Given the description of an element on the screen output the (x, y) to click on. 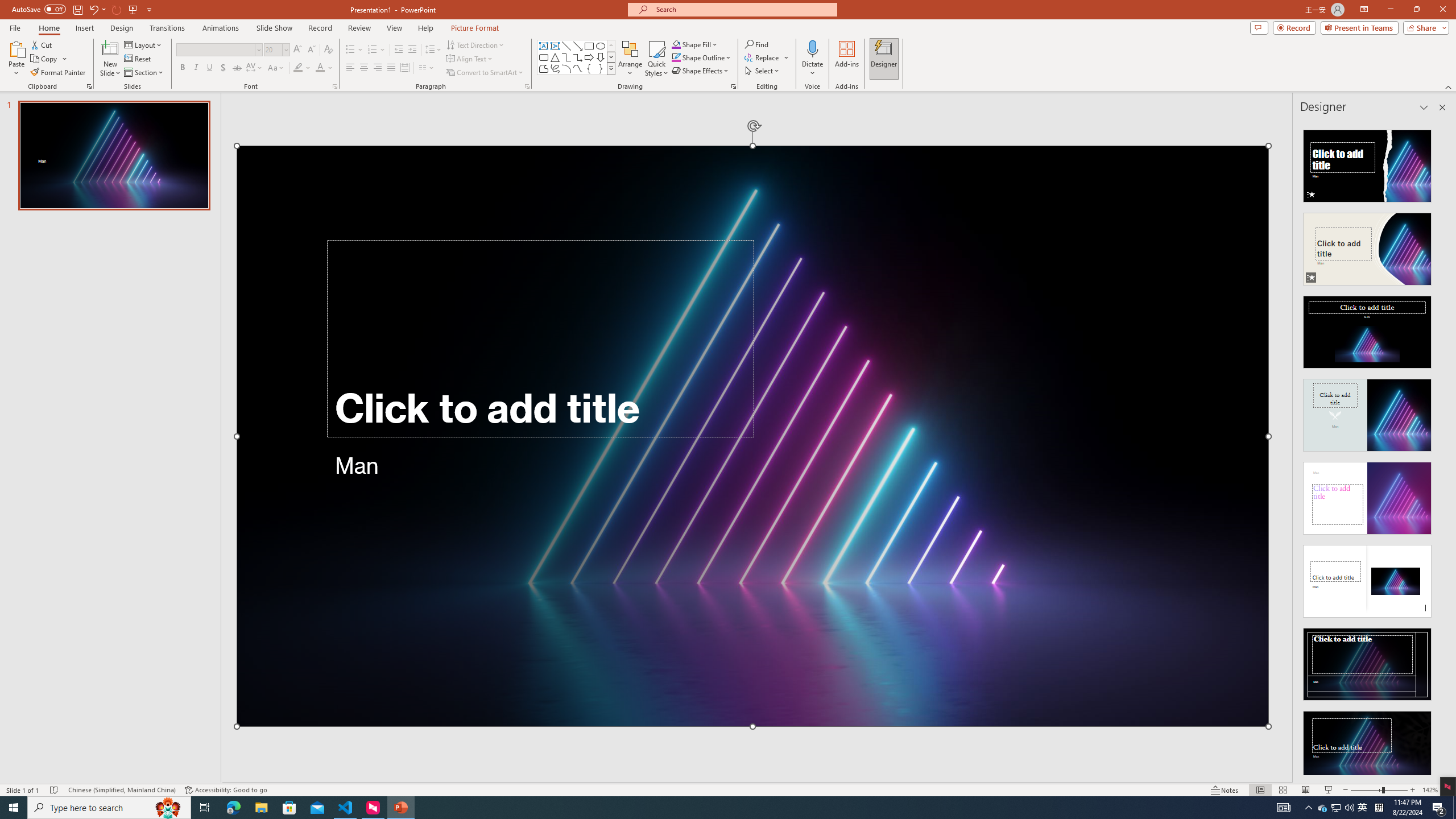
Shape Effects (700, 69)
Accessibility Checker Accessibility: Good to go (226, 790)
